Given the description of an element on the screen output the (x, y) to click on. 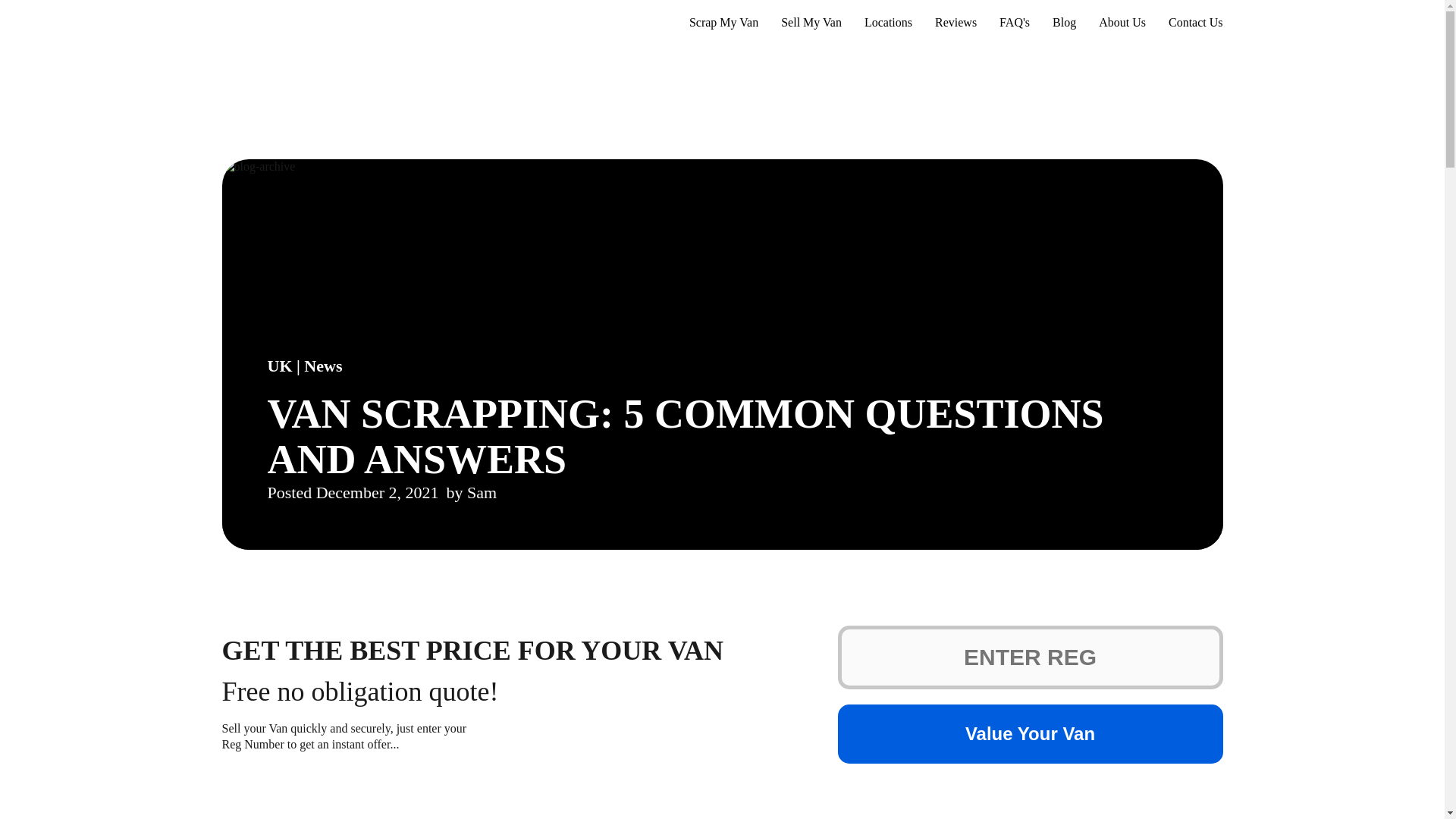
Blog (1063, 26)
Reviews (955, 26)
Contact Us (1196, 26)
Scrap My Van (723, 26)
FAQ's (1013, 26)
Value Your Van (1030, 733)
Locations (888, 26)
Value Your Van (1030, 733)
About Us (1122, 26)
Sell My Van (810, 26)
